Given the description of an element on the screen output the (x, y) to click on. 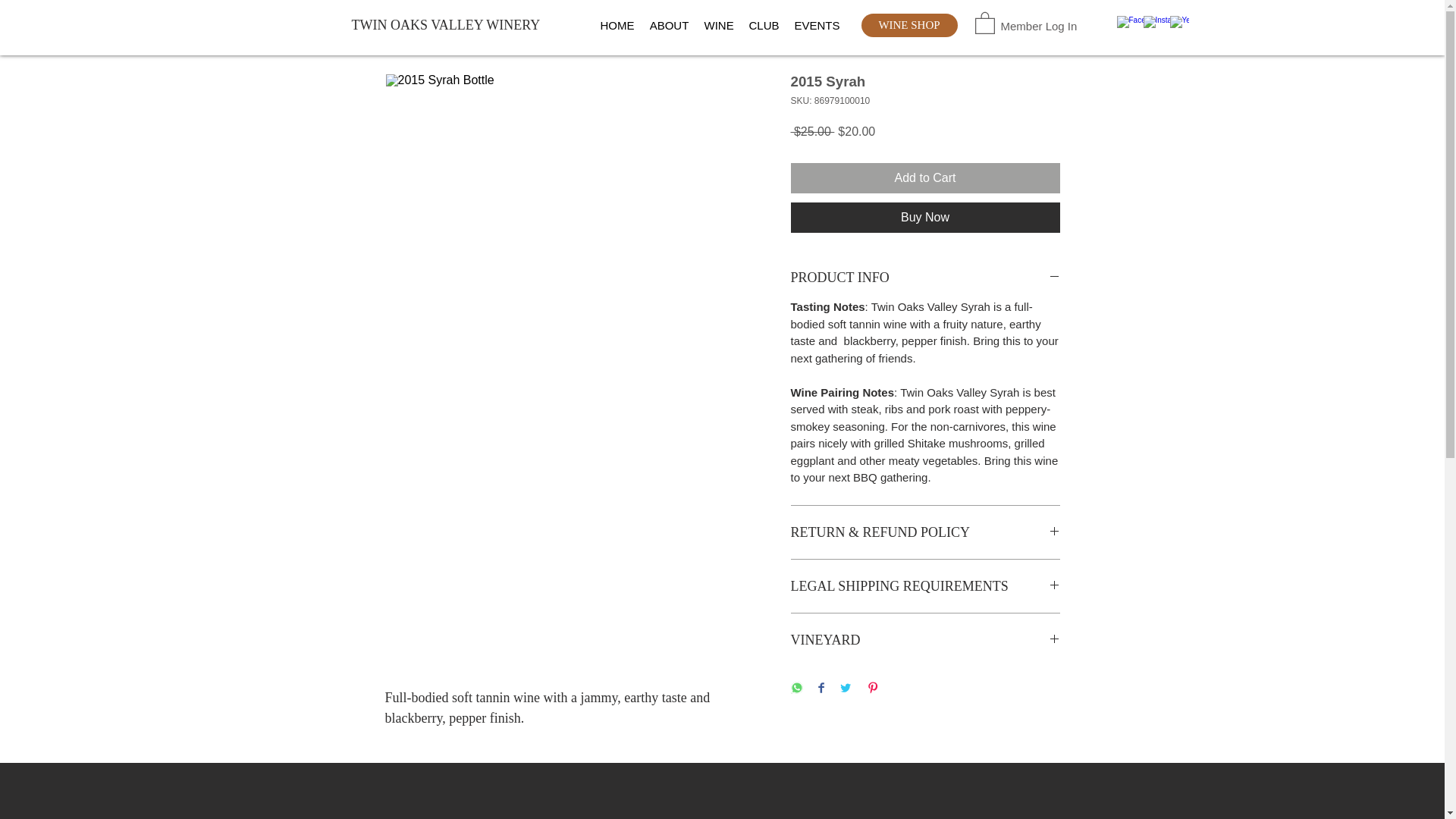
LEGAL SHIPPING REQUIREMENTS (924, 586)
PRODUCT INFO (924, 277)
WINE SHOP (909, 24)
HOME (617, 25)
Twin Oaks Valley Winery (723, 816)
ABOUT (668, 25)
VINEYARD (924, 639)
EVENTS (817, 25)
Add to Cart (924, 177)
CLUB (764, 25)
